Given the description of an element on the screen output the (x, y) to click on. 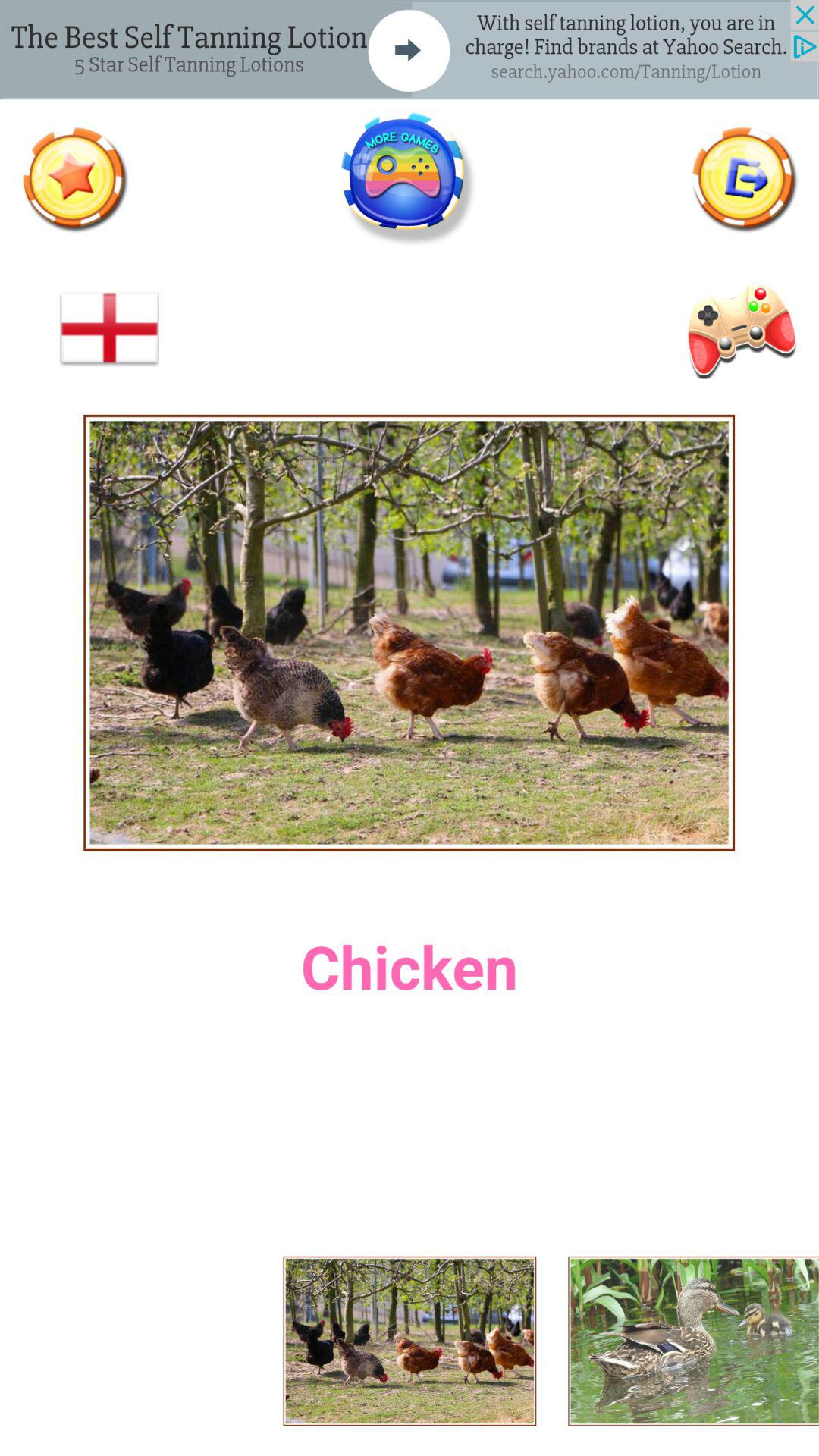
play (739, 328)
